Given the description of an element on the screen output the (x, y) to click on. 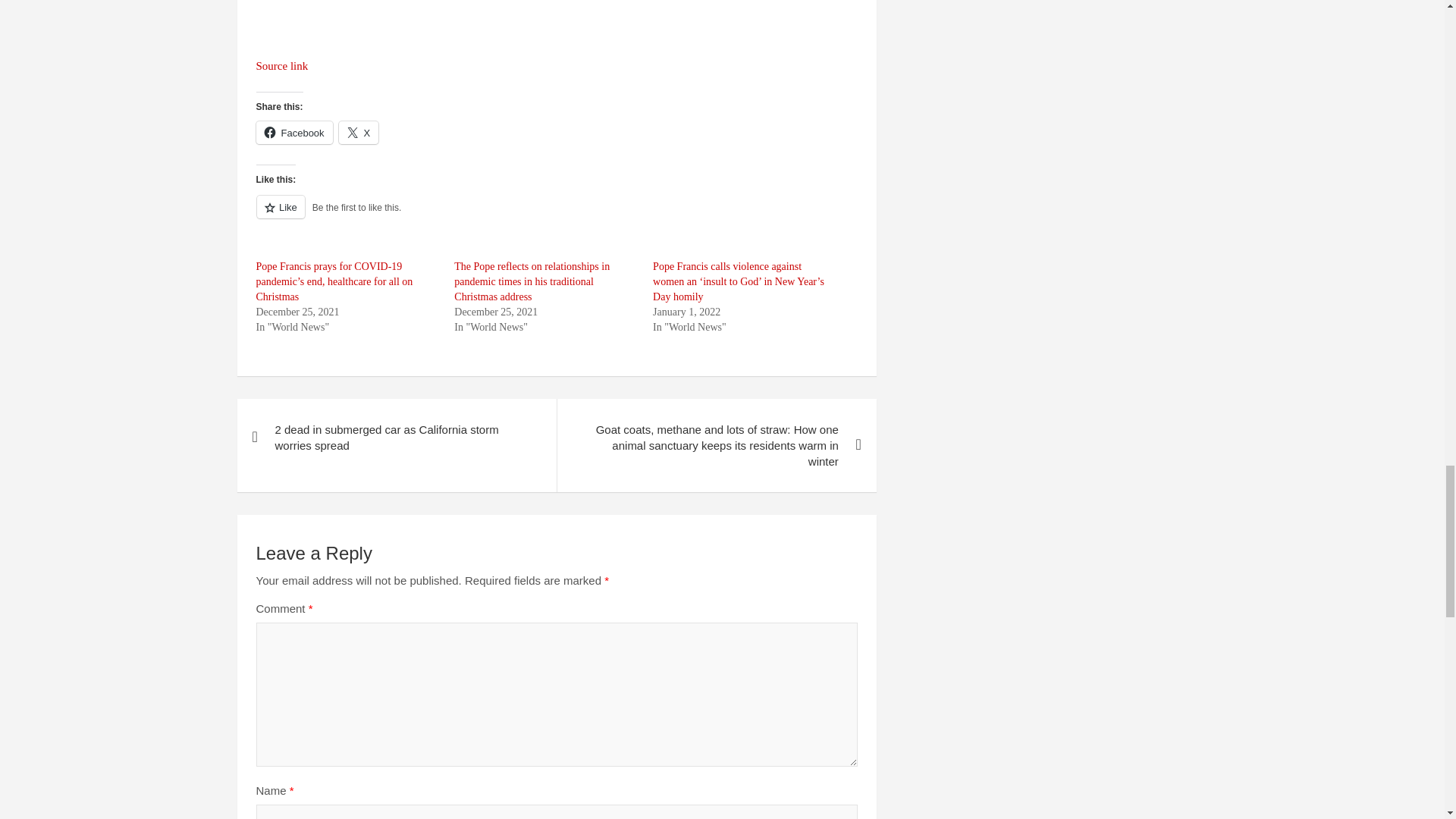
Click to share on Facebook (294, 132)
Like or Reblog (556, 215)
X (358, 132)
2 dead in submerged car as California storm worries spread (395, 436)
Click to share on X (358, 132)
Source link (282, 65)
Facebook (294, 132)
